Given the description of an element on the screen output the (x, y) to click on. 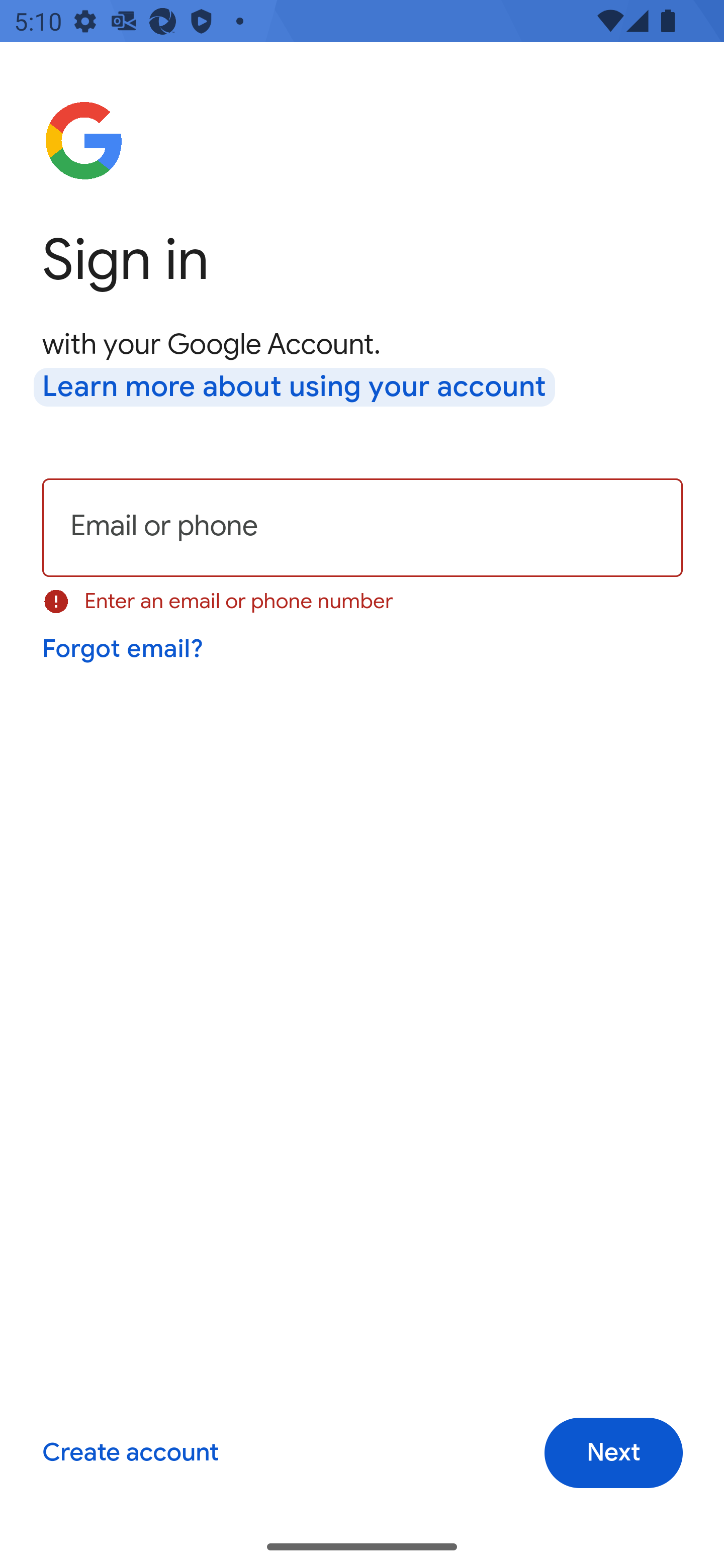
Learn more about using your account (294, 388)
Forgot email? (123, 648)
Create account (129, 1453)
Next (613, 1453)
